Given the description of an element on the screen output the (x, y) to click on. 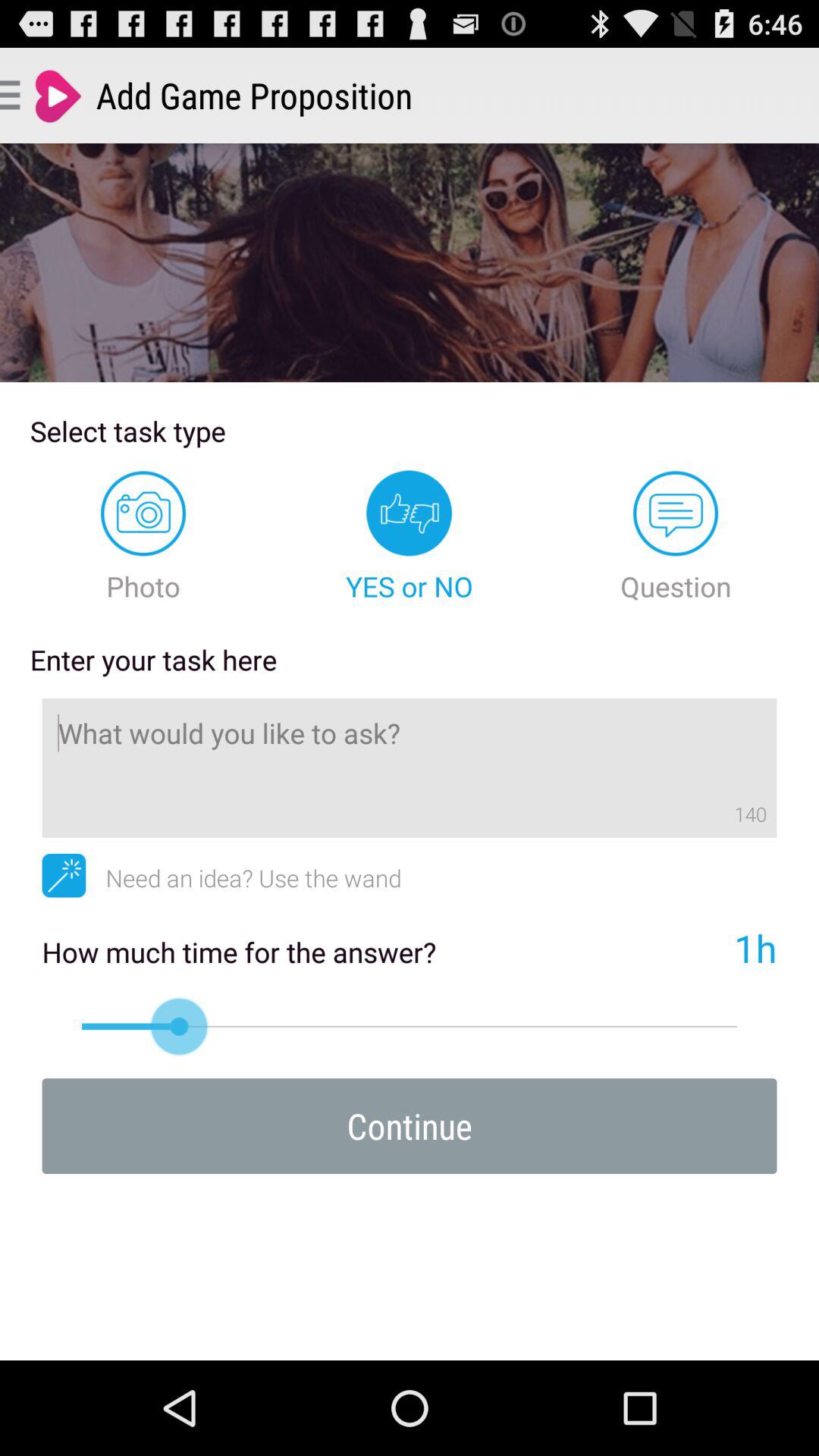
swipe to continue (409, 1125)
